Given the description of an element on the screen output the (x, y) to click on. 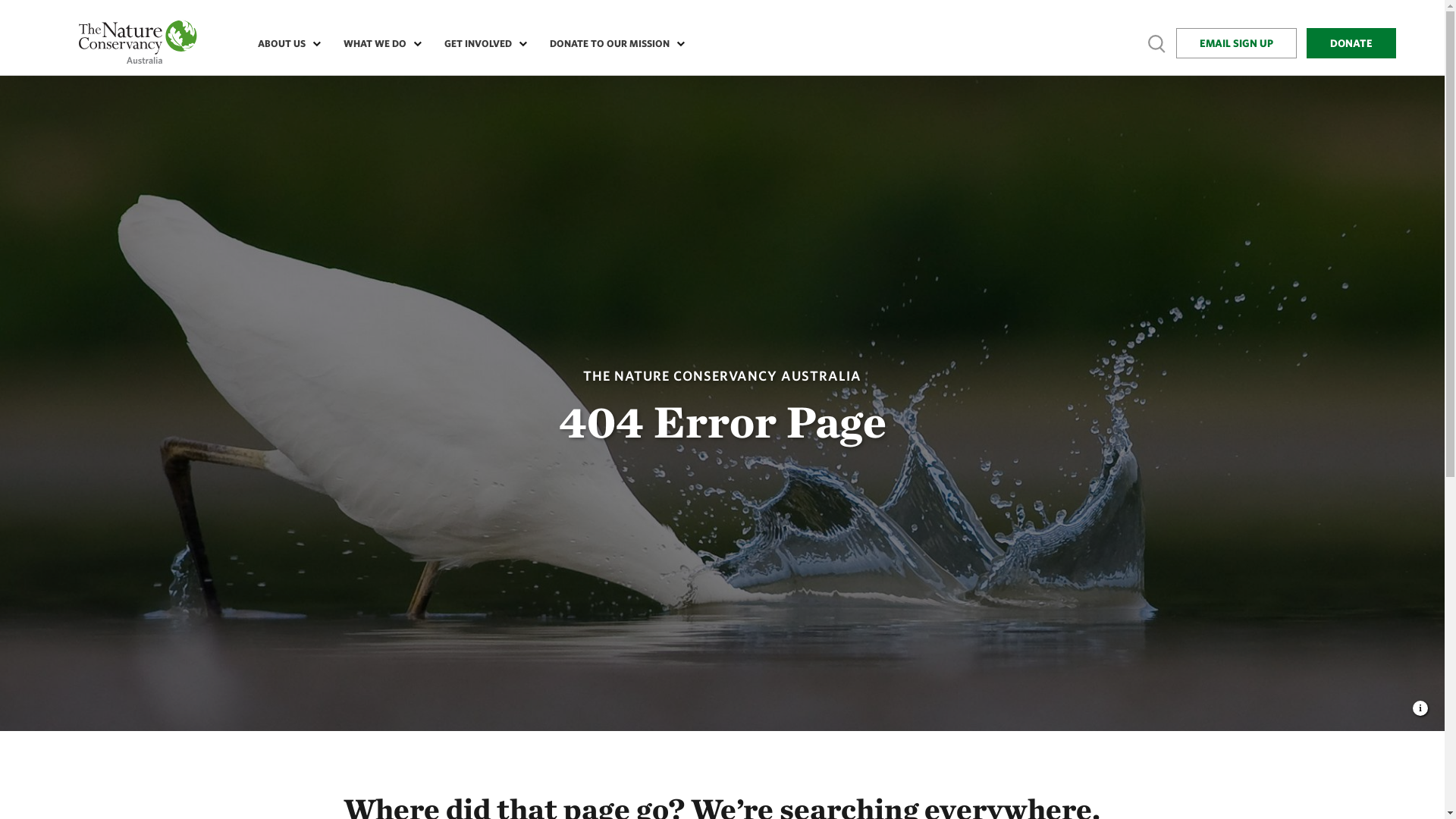
EMAIL SIGN UP Element type: text (1236, 43)
GET INVOLVED Element type: text (481, 43)
THE NATURE CONSERVANCY AUSTRALIA Element type: text (722, 374)
ABOUT US Element type: text (285, 43)
DONATE Element type: text (1351, 43)
Show search Element type: text (1157, 43)
DONATE TO OUR MISSION Element type: text (613, 43)
WHAT WE DO Element type: text (378, 43)
